Given the description of an element on the screen output the (x, y) to click on. 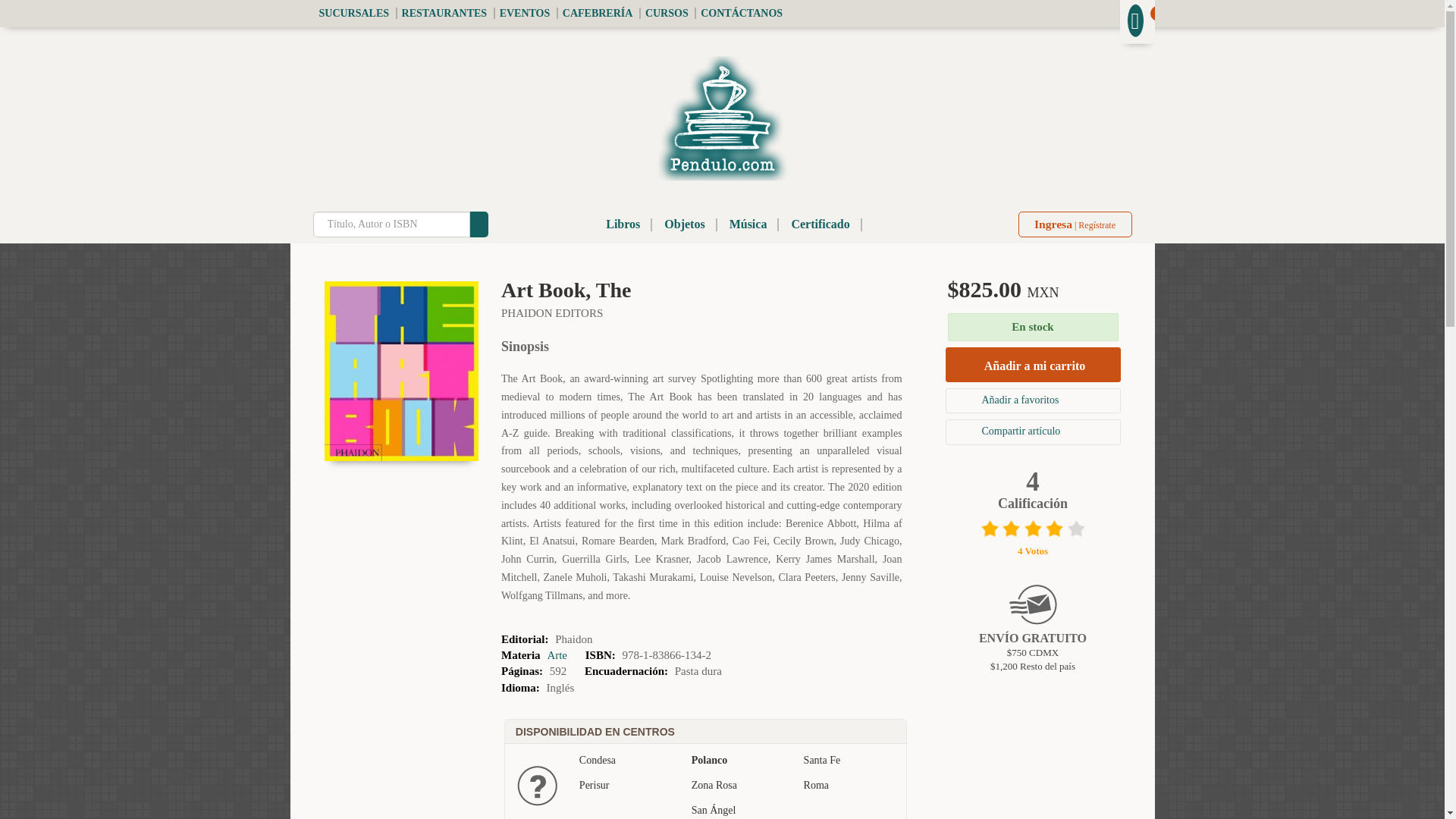
Libros (623, 224)
0 (1136, 20)
SUCURSALES (353, 12)
EVENTOS (523, 12)
RESTAURANTES (444, 12)
CURSOS (666, 12)
